Given the description of an element on the screen output the (x, y) to click on. 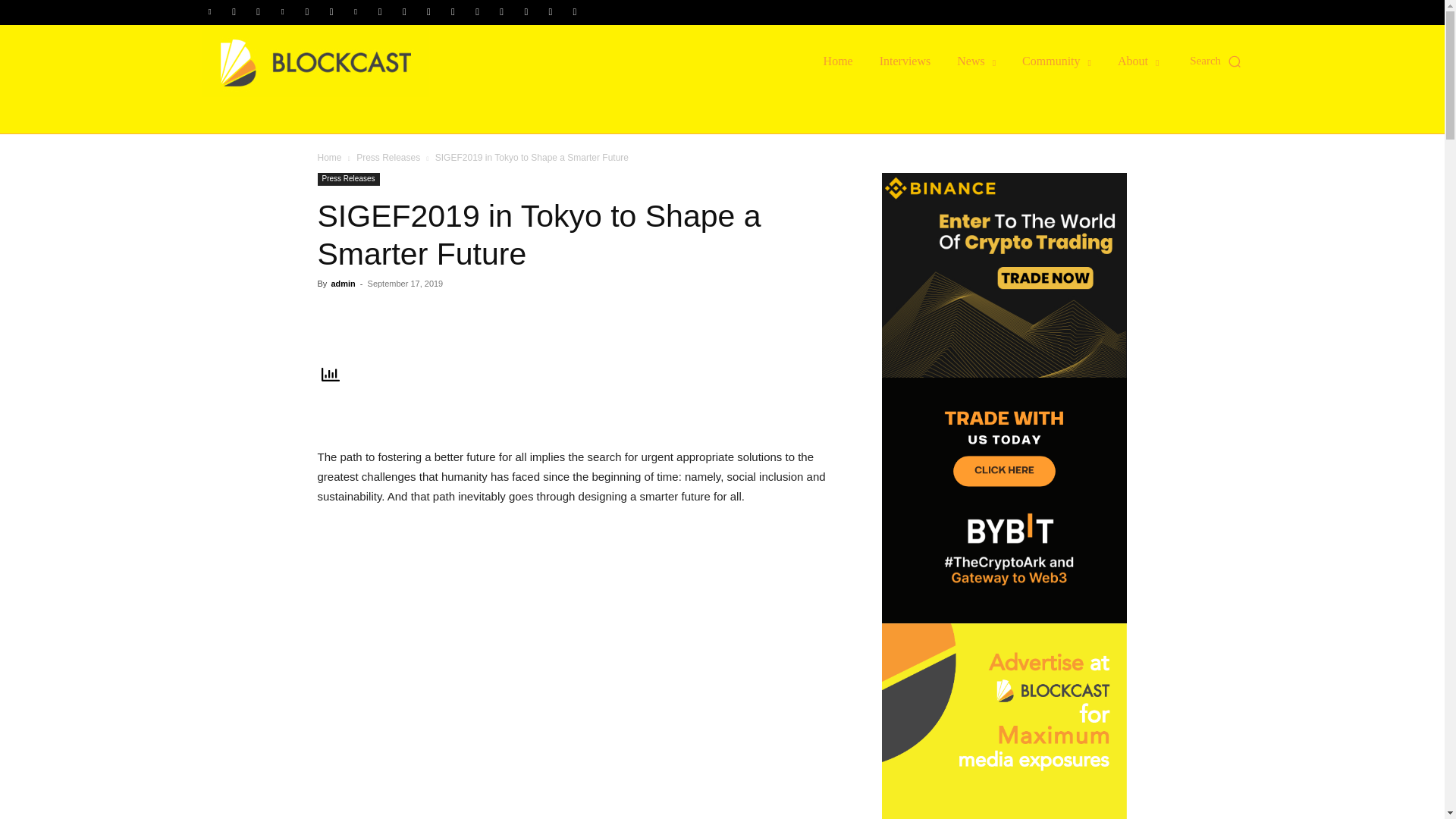
Telegram (428, 12)
Reddit (379, 12)
Search (1099, 262)
Pinterest (355, 12)
Tumblr (452, 12)
RSS (404, 12)
Facebook (234, 12)
Linkedin (283, 12)
Instagram (258, 12)
Mail (306, 12)
